Given the description of an element on the screen output the (x, y) to click on. 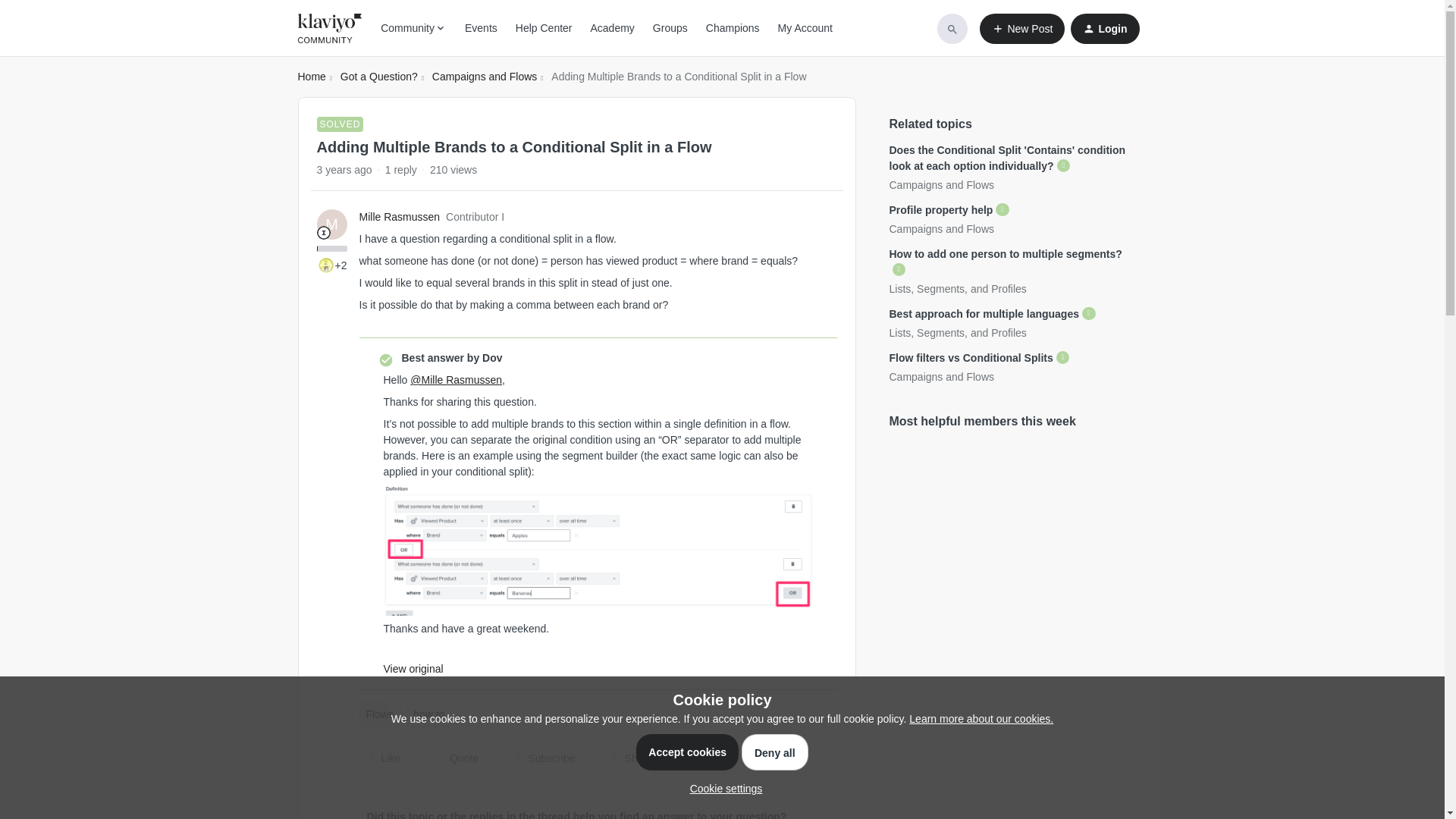
Groups (669, 28)
My Account (804, 28)
Help Center (543, 28)
Events (480, 28)
Got a Question? (378, 76)
Home (310, 76)
Academy (611, 28)
Login (1104, 28)
New Post (1021, 28)
Champions (733, 28)
